Given the description of an element on the screen output the (x, y) to click on. 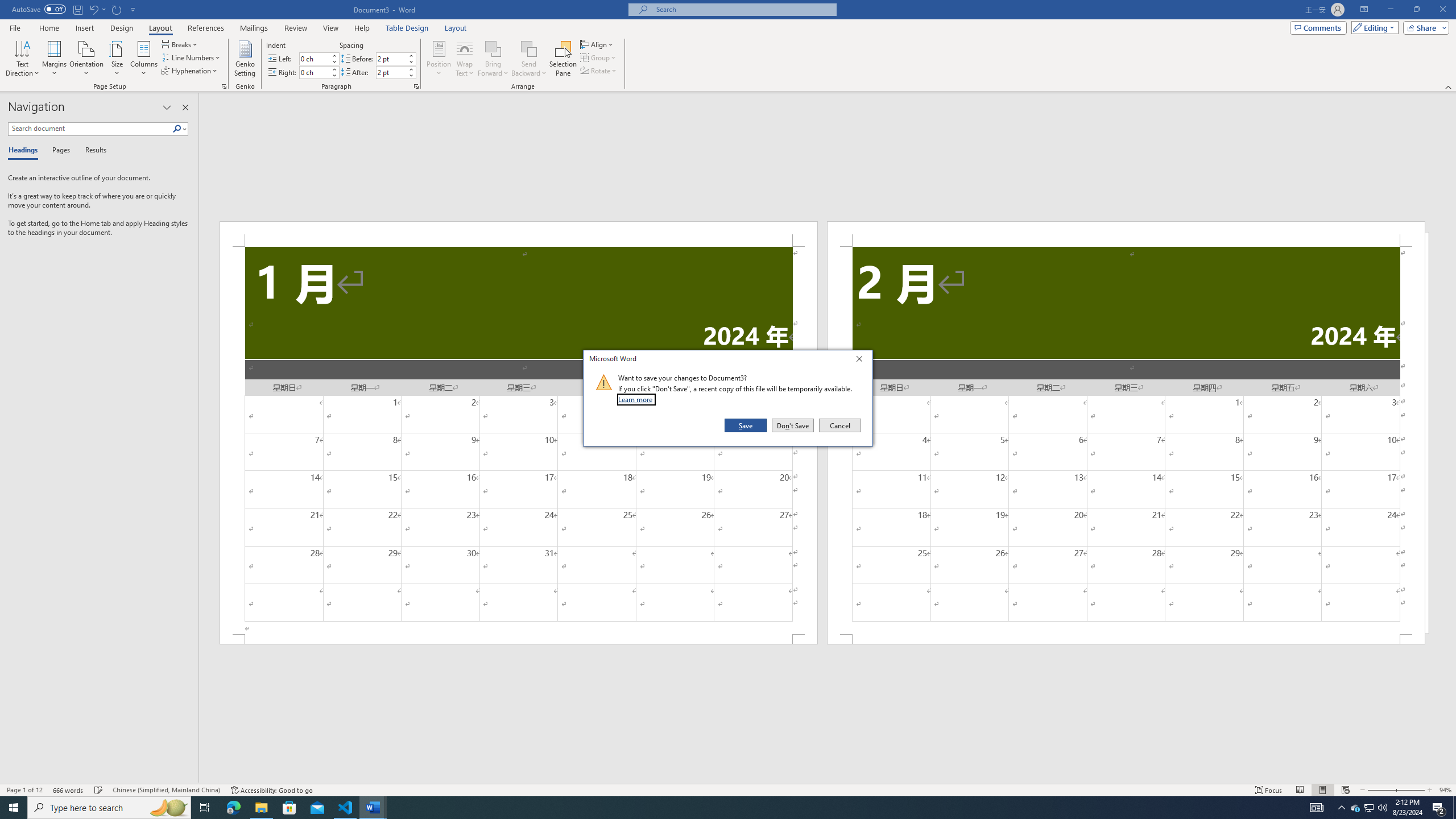
Start (13, 807)
Hyphenation (189, 69)
Running applications (717, 807)
Word - 2 running windows (373, 807)
AutomationID: 4105 (1316, 807)
Word Count 666 words (68, 790)
Margins (54, 58)
Columns (143, 58)
Position (438, 58)
